Given the description of an element on the screen output the (x, y) to click on. 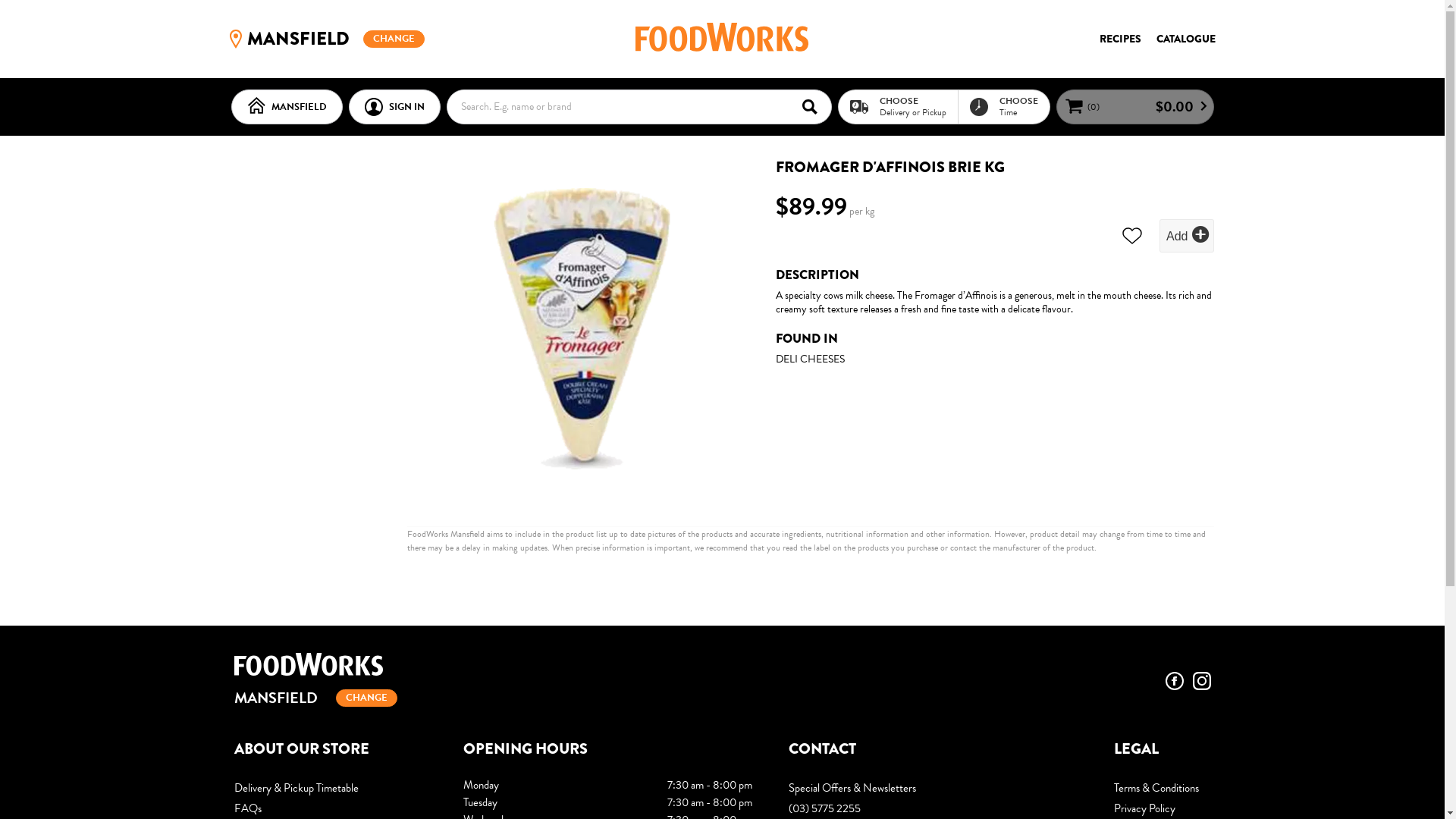
Instagram foodworksmansfield Element type: hover (1201, 680)
CATALOGUE Element type: text (1184, 38)
Add+ Element type: text (1186, 234)
Delivery & Pickup Timetable Element type: text (329, 788)
CHANGE Element type: text (393, 38)
Special Offers & Newsletters Element type: text (932, 788)
DELI CHEESES Element type: text (809, 358)
MANSFIELD Element type: text (286, 106)
CHOOSE
Delivery or Pickup Element type: text (897, 105)
Search Element type: hover (814, 105)
(0)
$0.00 Element type: text (1134, 106)
Terms & Conditions Element type: text (1161, 788)
Facebook Element type: hover (1173, 680)
RECIPES Element type: text (1120, 38)
SIGN IN Element type: text (394, 106)
CHOOSE
Time Element type: text (1002, 105)
MANSFIELD Element type: text (372, 699)
